Given the description of an element on the screen output the (x, y) to click on. 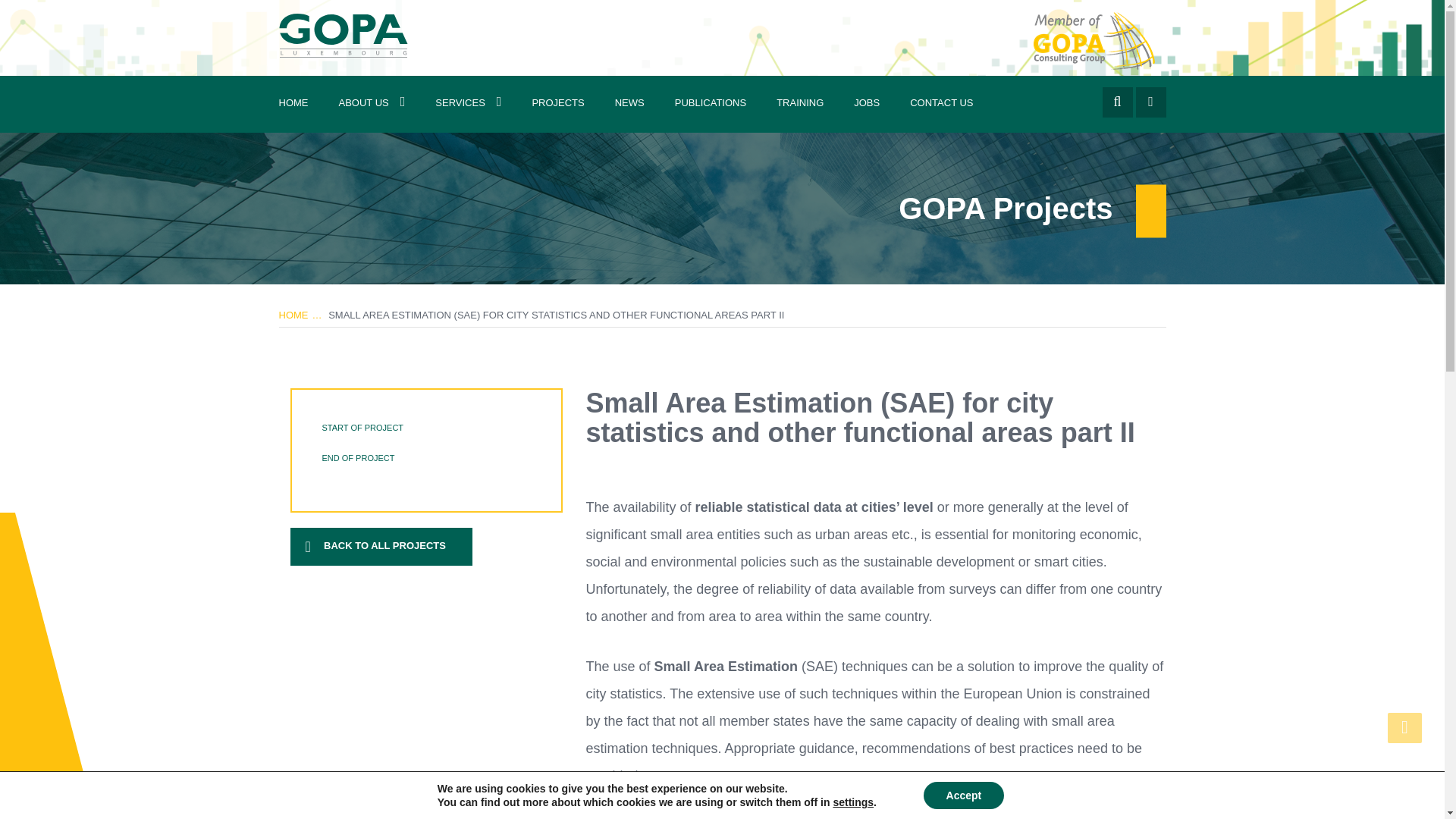
BACK TO ALL PROJECTS (380, 548)
SERVICES (468, 104)
Gopa (343, 32)
ABOUT US (371, 104)
HOME (293, 104)
CONTACT US (941, 104)
NEWS (629, 104)
HOME (293, 315)
JOBS (866, 104)
PUBLICATIONS (710, 104)
